Given the description of an element on the screen output the (x, y) to click on. 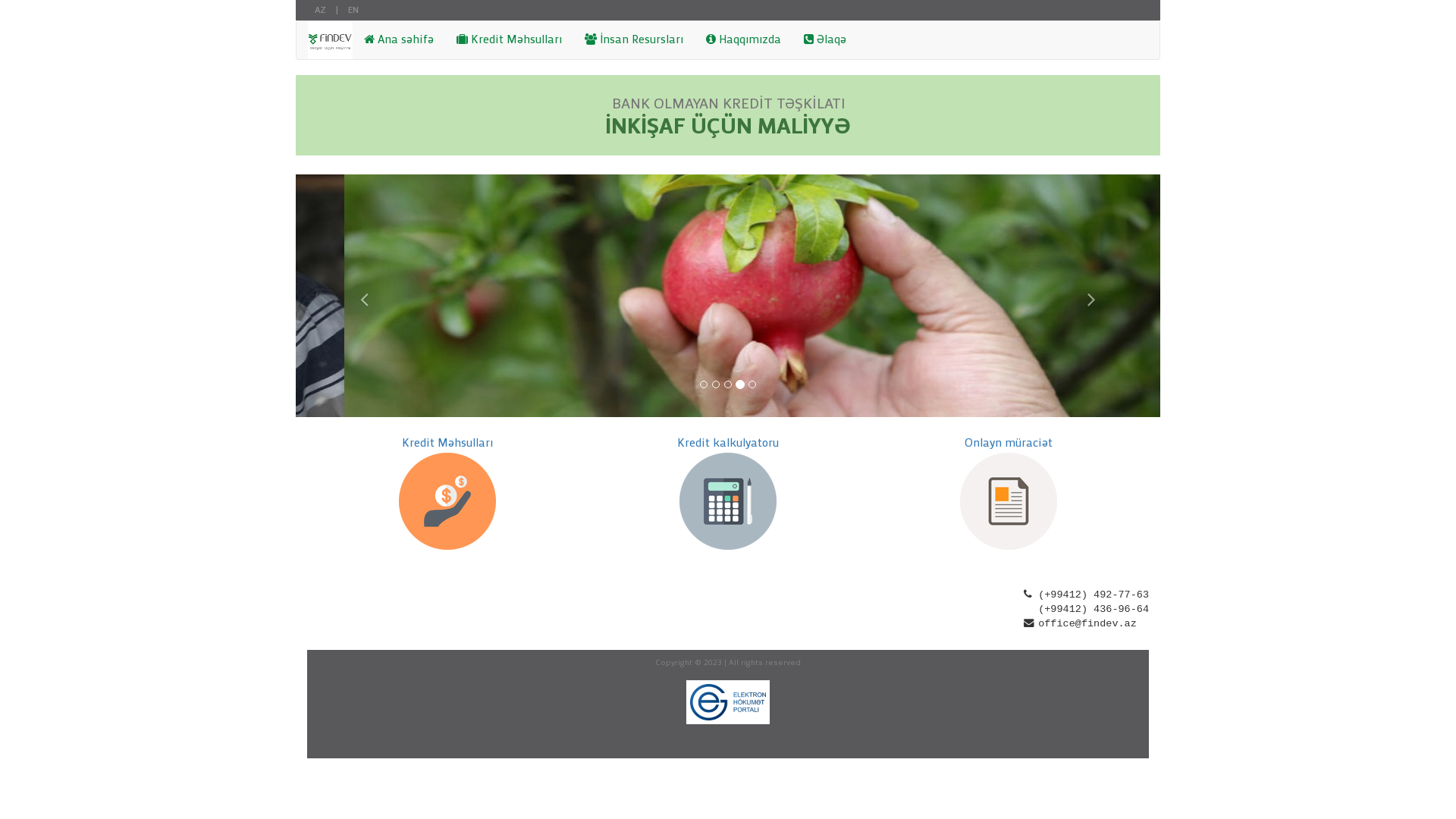
EN Element type: text (353, 10)
Previous Element type: text (360, 295)
Next Element type: text (1095, 295)
AZ Element type: text (320, 10)
Kredit kalkulyatoru Element type: text (727, 443)
